Given the description of an element on the screen output the (x, y) to click on. 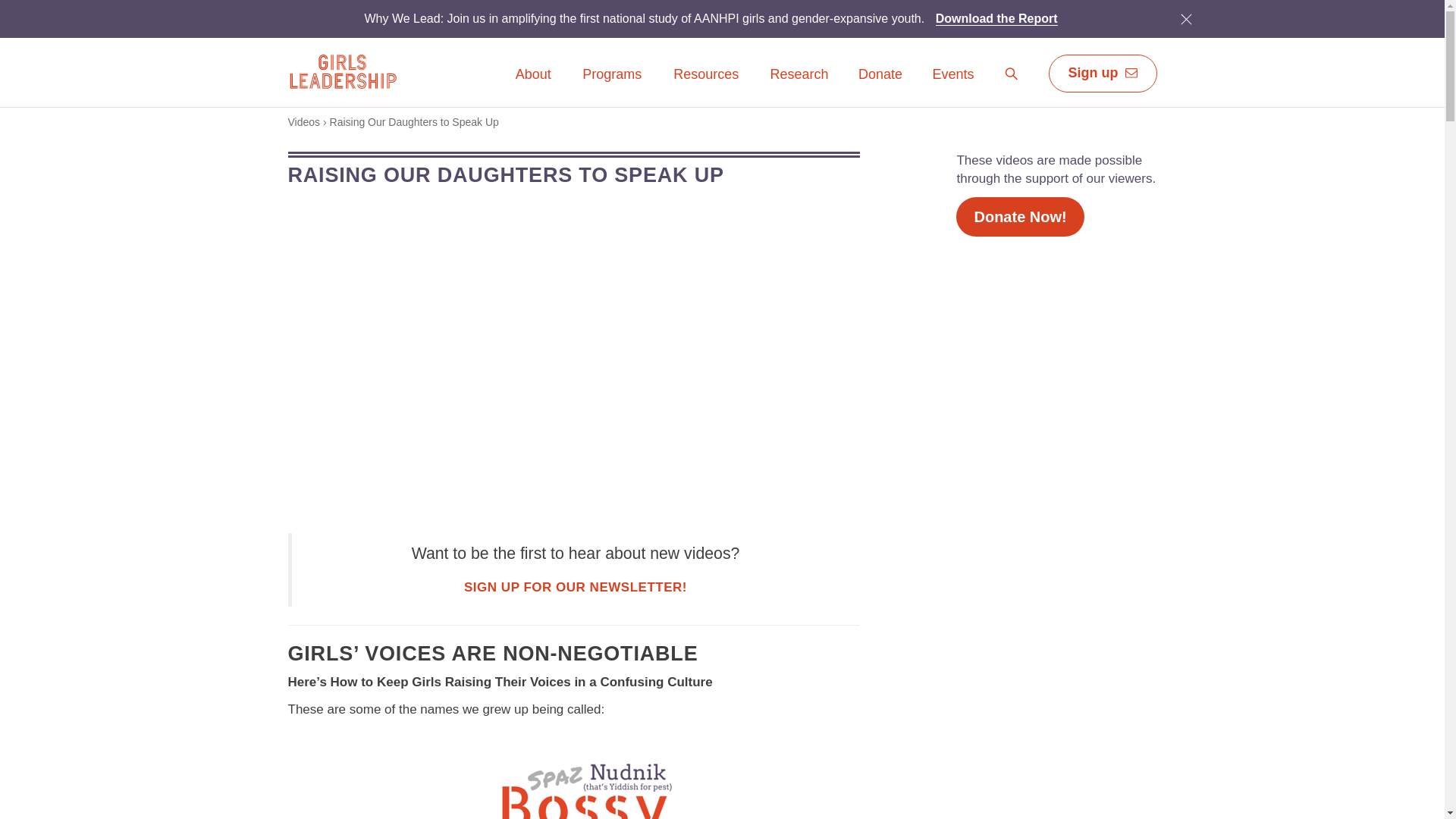
Girls Leadership (341, 71)
Events (952, 75)
About (533, 75)
Donate (879, 75)
Donate (879, 84)
About (533, 84)
Research (798, 84)
A6F524C7-72F2-47B1-896C-2077AF8665D0 (1183, 18)
Resources (706, 84)
Search (1012, 74)
A6F524C7-72F2-47B1-896C-2077AF8665D0 (1185, 18)
SIGN UP FOR OUR NEWSLETTER! (1012, 77)
SIGN UP FOR OUR NEWSLETTER! (575, 586)
Research (575, 586)
